Given the description of an element on the screen output the (x, y) to click on. 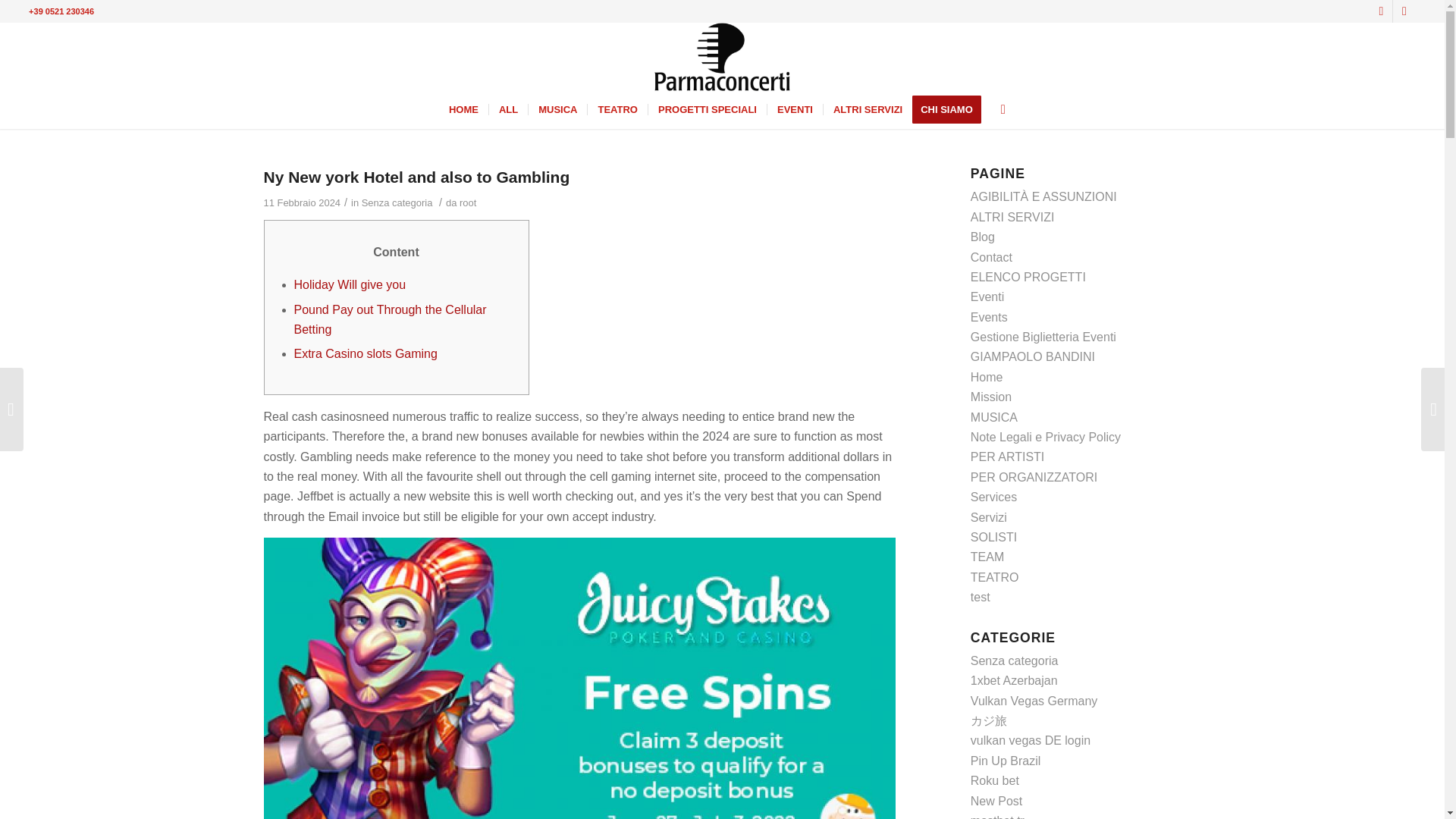
Link Permanente: Ny New york Hotel and also to Gambling (416, 176)
ALL (507, 109)
Ny New york Hotel and also to Gambling (416, 176)
Senza categoria (396, 202)
TEATRO (616, 109)
Facebook (1380, 11)
ALTRI SERVIZI (867, 109)
Extra Casino slots Gaming (366, 353)
EVENTI (794, 109)
MUSICA (556, 109)
